Given the description of an element on the screen output the (x, y) to click on. 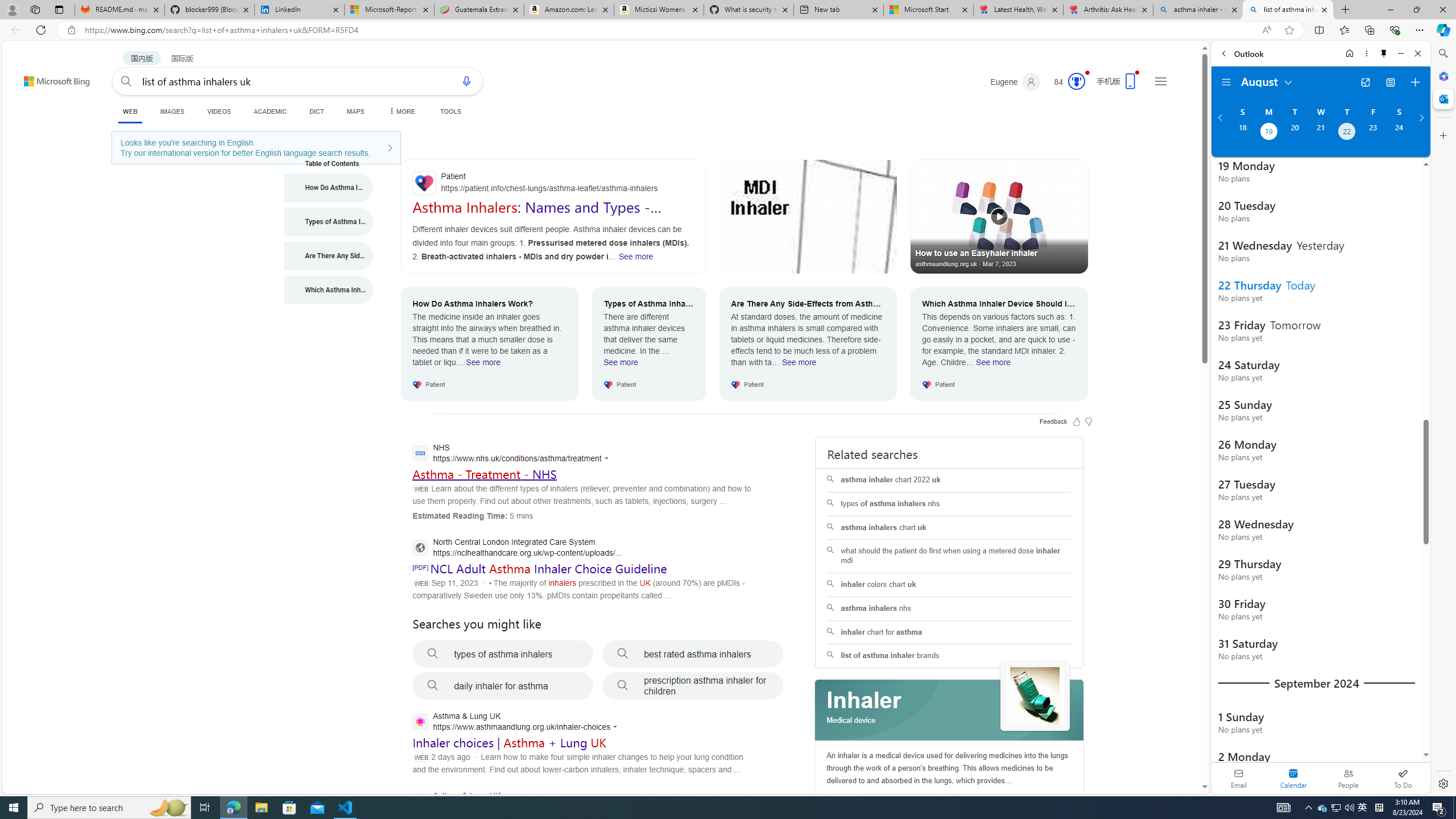
Types of Asthma Inhalers (328, 221)
Open in new tab (1365, 82)
Microsoft Rewards 84 (1065, 81)
Search more (1179, 753)
best rated asthma inhalers (692, 653)
